Given the description of an element on the screen output the (x, y) to click on. 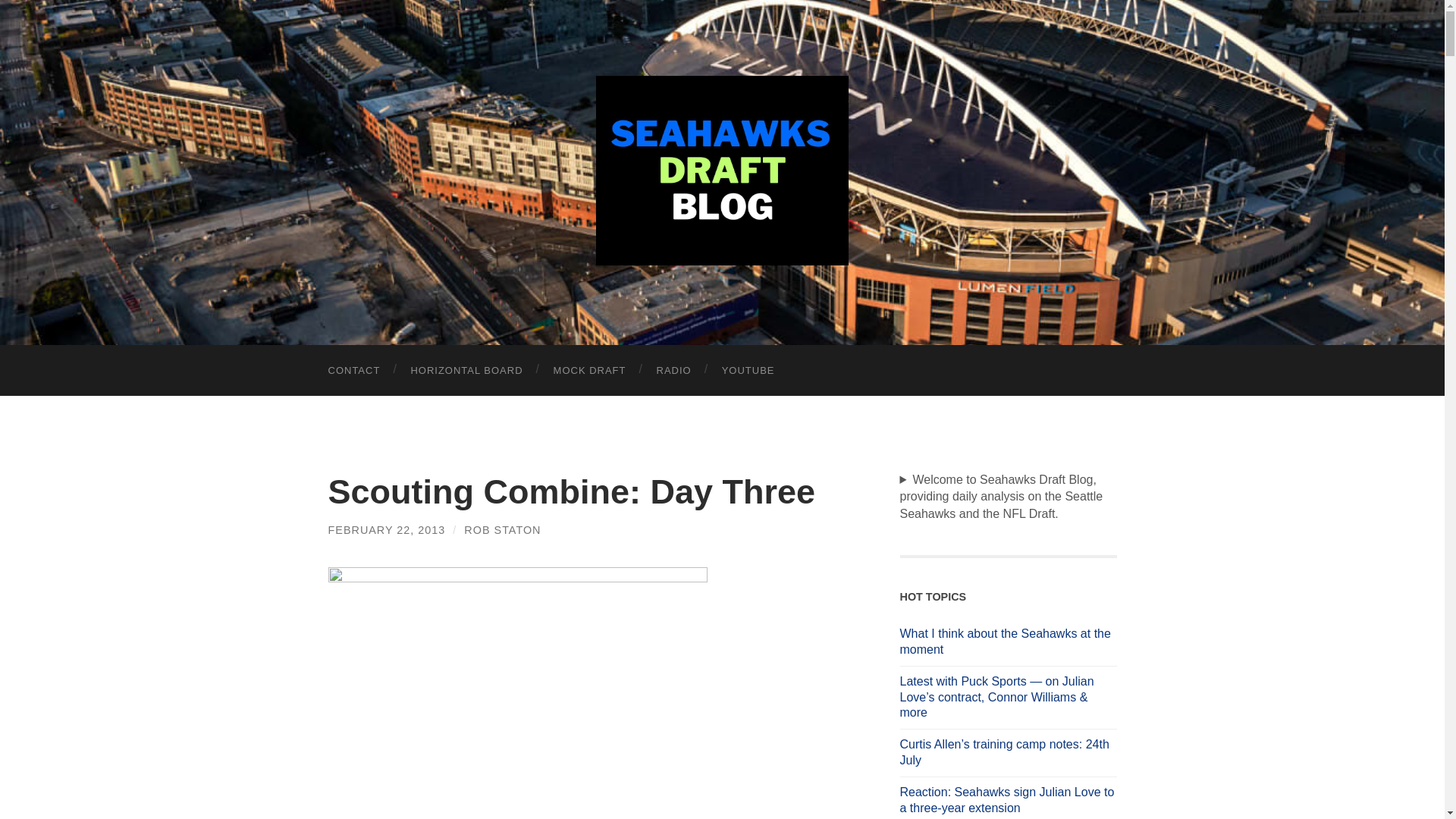
FEBRUARY 22, 2013 (386, 530)
Seahawks Draft Blog (721, 170)
ROB STATON (502, 530)
YOUTUBE (748, 369)
CONTACT (353, 369)
MOCK DRAFT (590, 369)
Scouting combine (516, 693)
HORIZONTAL BOARD (465, 369)
Posts by Rob Staton (502, 530)
RADIO (674, 369)
